Given the description of an element on the screen output the (x, y) to click on. 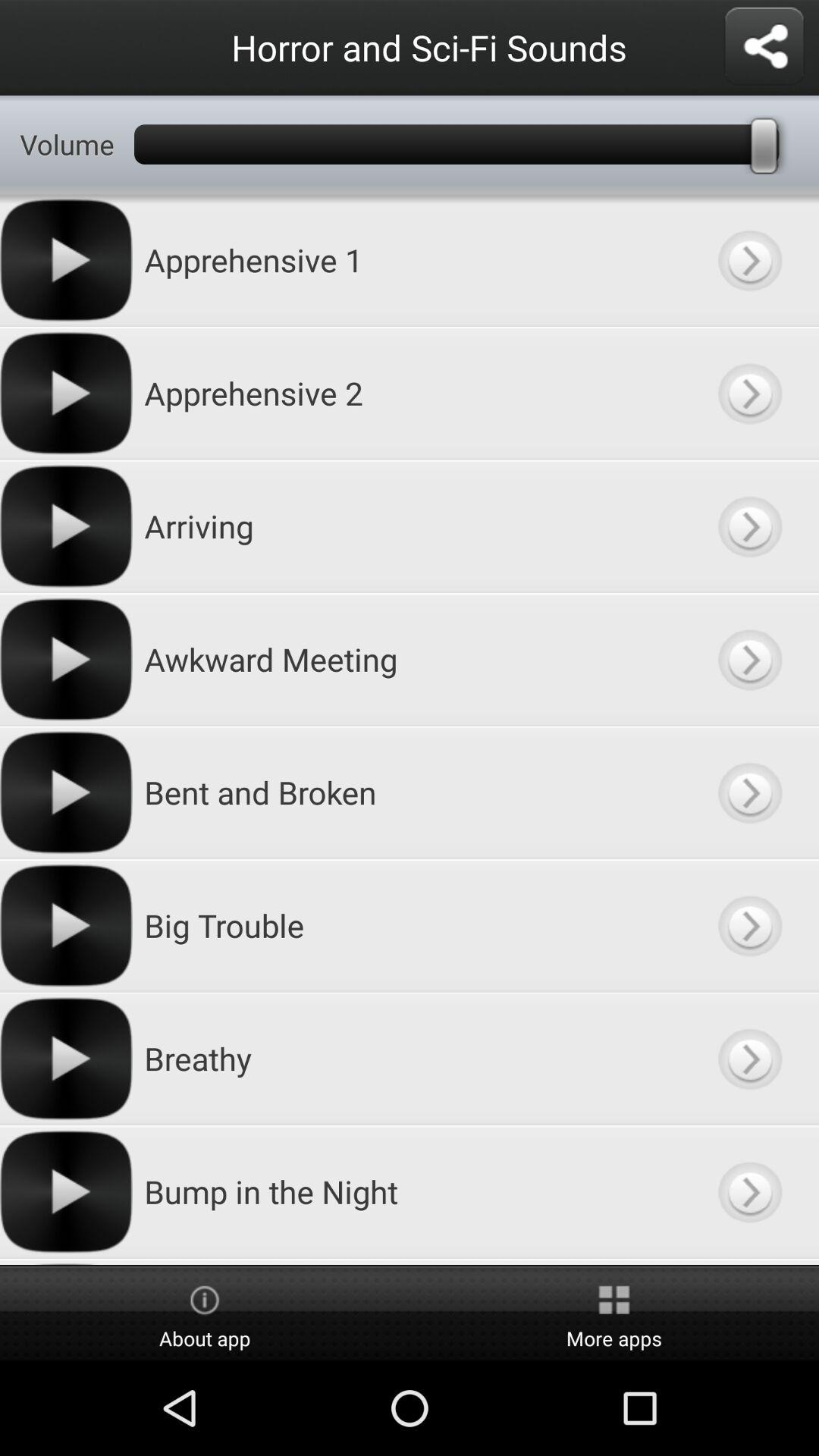
scroll (749, 1261)
